Given the description of an element on the screen output the (x, y) to click on. 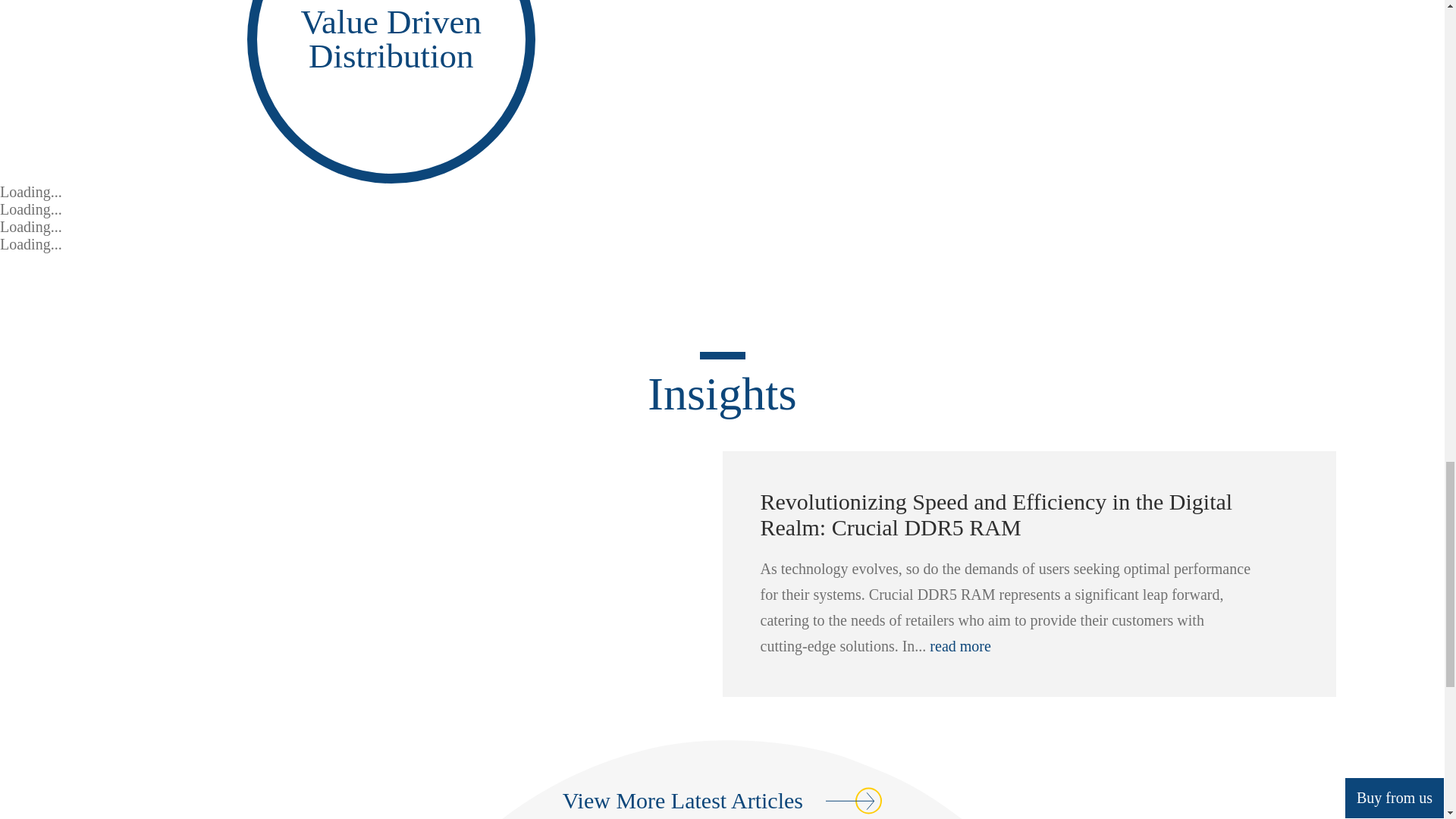
read more (960, 646)
Value Driven Distribution (391, 38)
View More Latest Articles (722, 796)
